Given the description of an element on the screen output the (x, y) to click on. 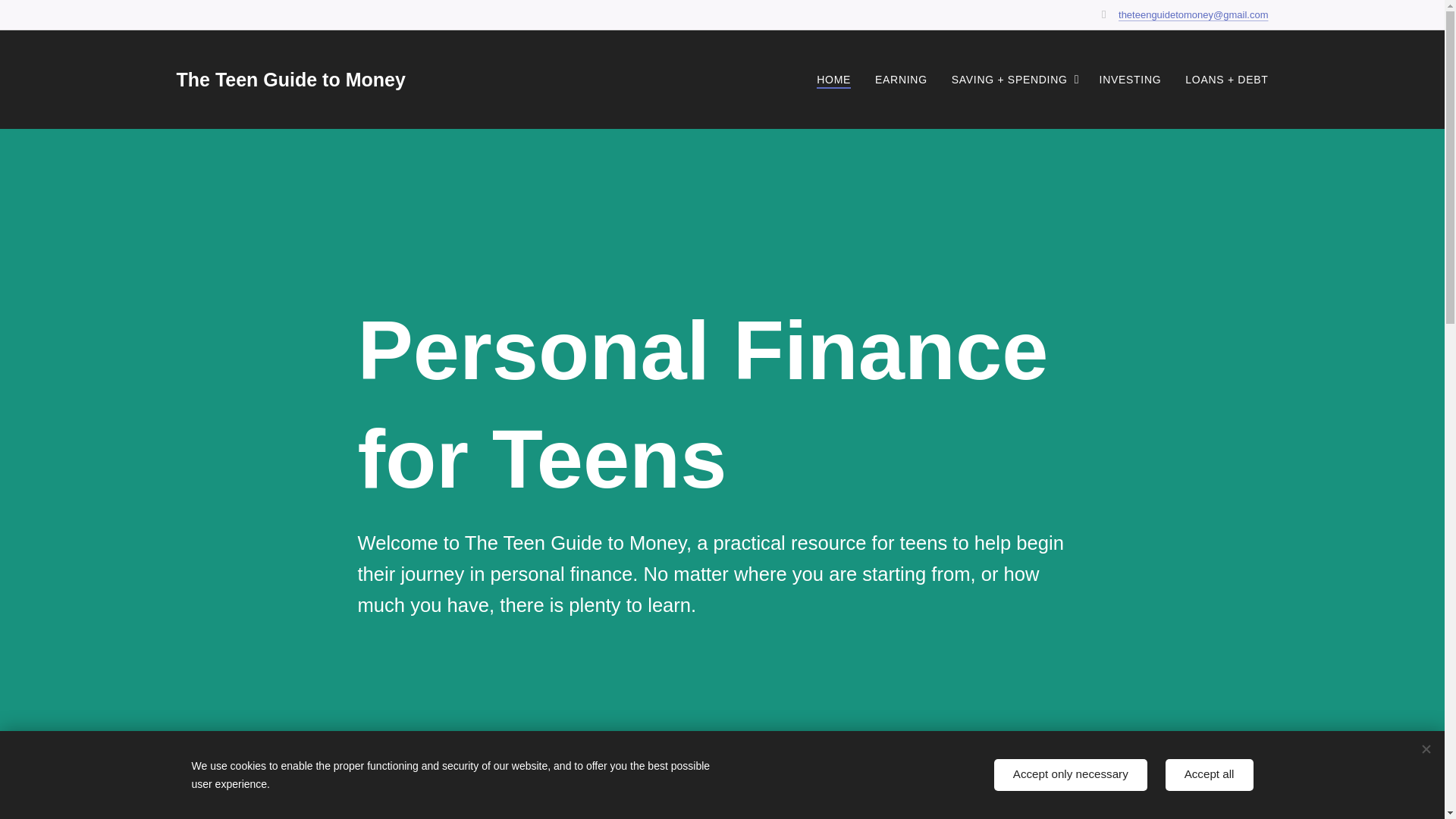
INVESTING (1130, 79)
Accept only necessary (1070, 774)
Accept all (1209, 774)
EARNING (901, 79)
HOME (837, 79)
